Given the description of an element on the screen output the (x, y) to click on. 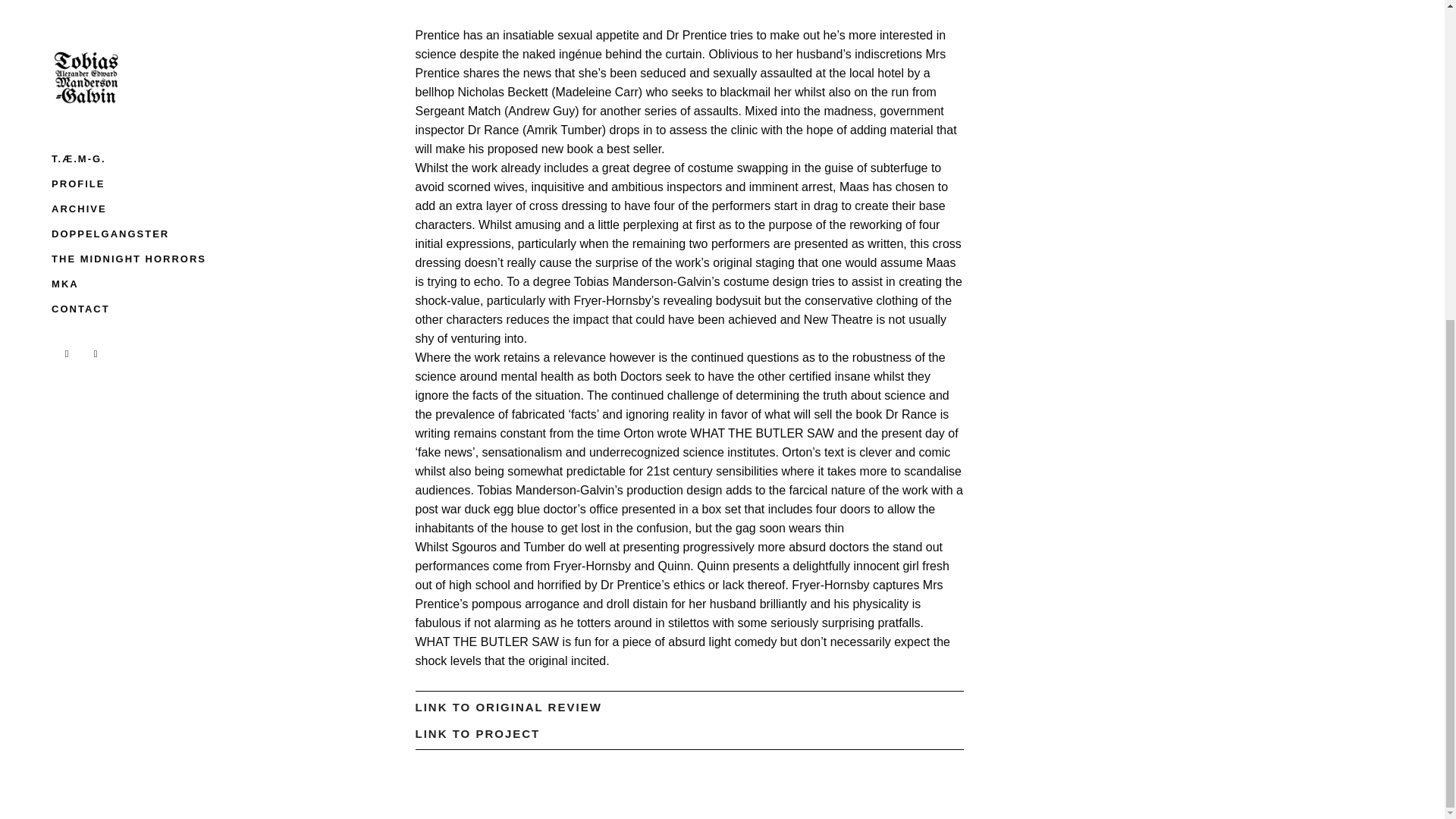
LINK TO ORIGINAL REVIEW (508, 707)
LINK TO PROJECT (477, 733)
